Given the description of an element on the screen output the (x, y) to click on. 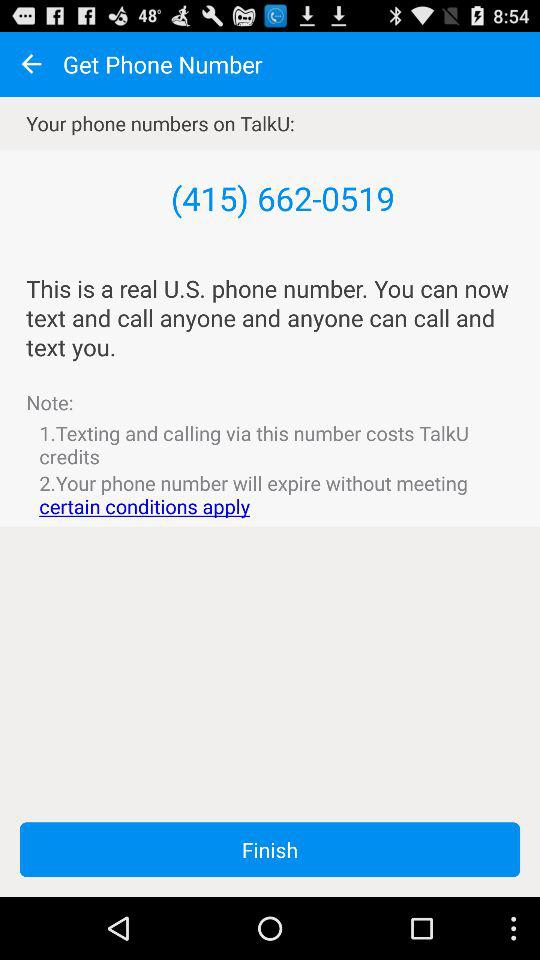
click app below the 2 your phone app (269, 849)
